Given the description of an element on the screen output the (x, y) to click on. 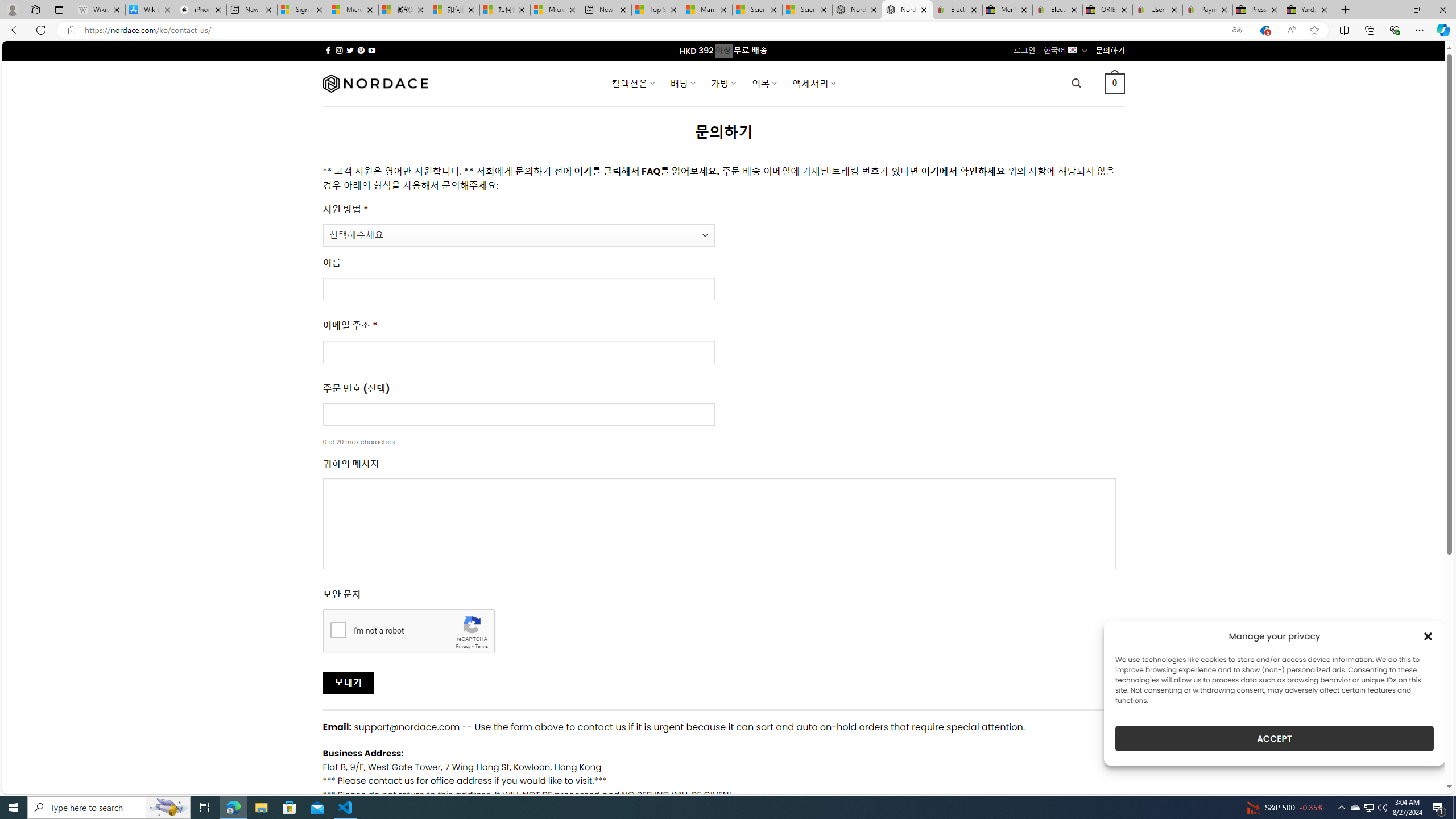
iPhone - Apple (201, 9)
Microsoft account | Account Checkup (555, 9)
Payments Terms of Use | eBay.com (1207, 9)
Terms (481, 646)
